Given the description of an element on the screen output the (x, y) to click on. 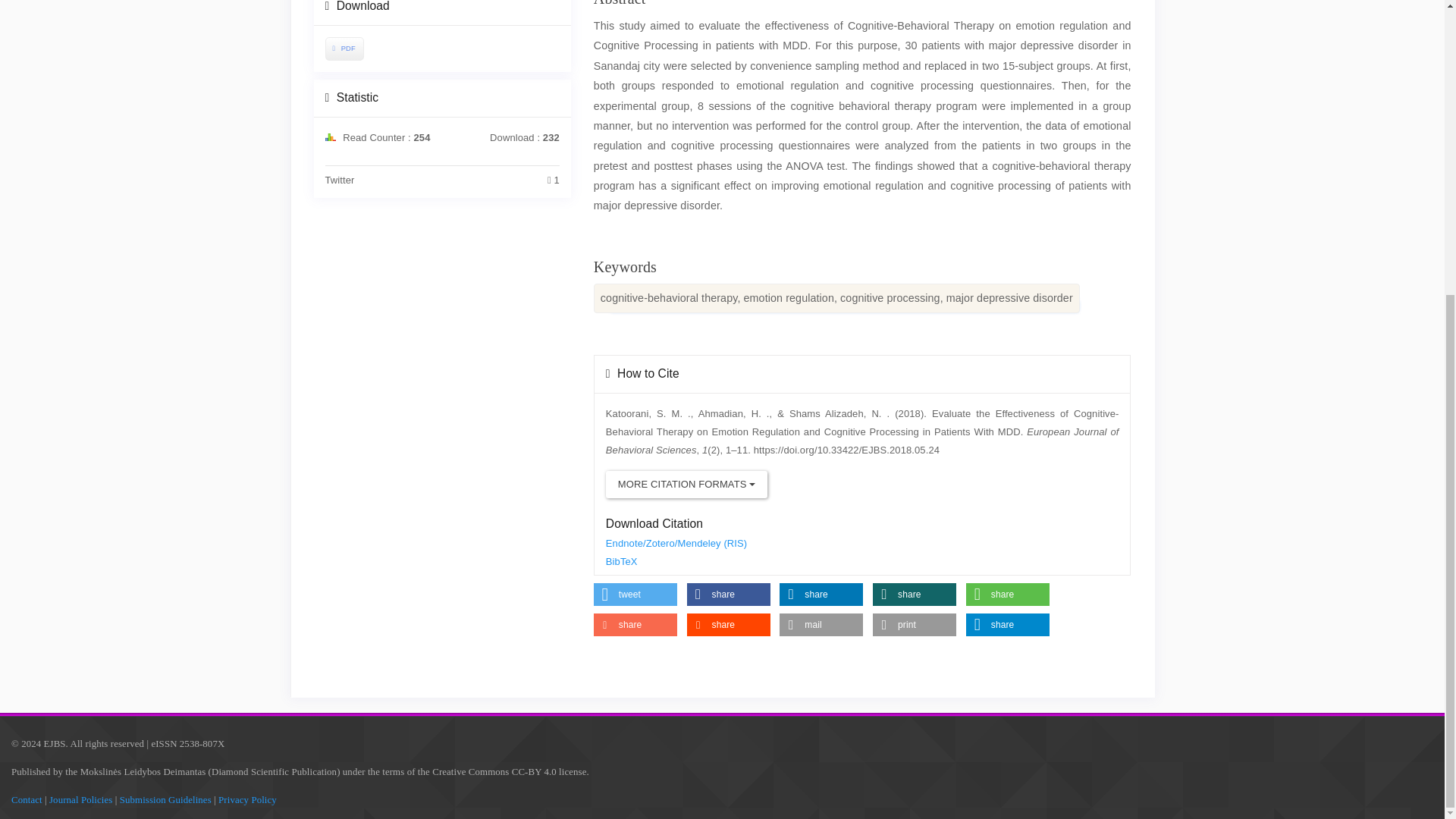
MORE CITATION FORMATS (686, 483)
Share on Whatsapp (1007, 594)
Share on Twitter (635, 594)
Share on Reddit (728, 624)
Share on Telegram (1007, 624)
Privacy Policy (247, 799)
Contact (26, 799)
PDF (343, 48)
Journal Policies (80, 799)
Download on article page (343, 48)
Share on LinkedIn (820, 594)
Share on Facebook (728, 594)
Share on XING (914, 594)
Submission Guidelines (165, 799)
Send by email (820, 624)
